Given the description of an element on the screen output the (x, y) to click on. 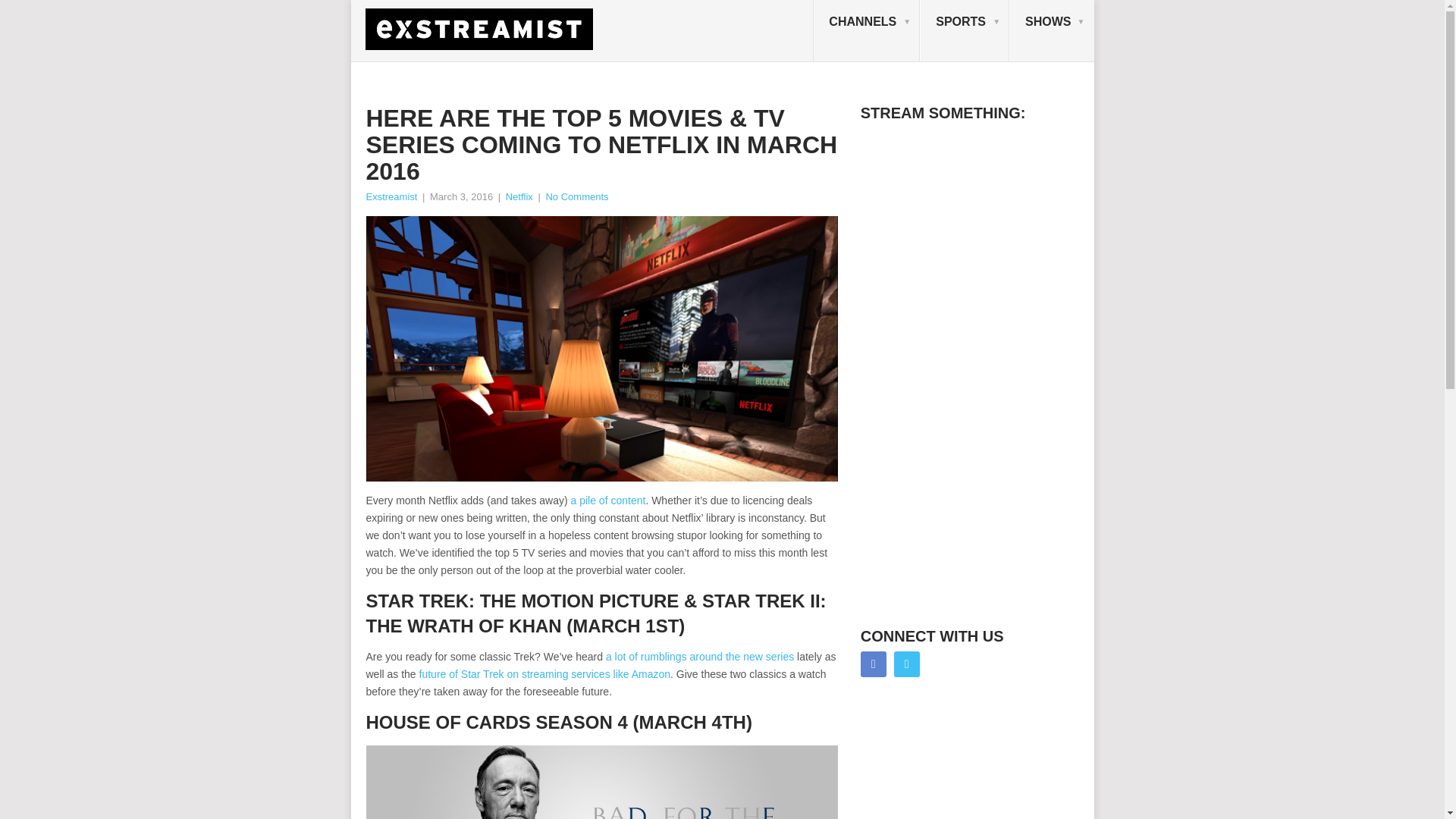
SPORTS (964, 31)
CHANNELS (866, 31)
Watch TV Channels Online (866, 31)
Posts by Exstreamist (390, 196)
Twitter (906, 664)
Facebook (873, 664)
Watch TV Shows Online (1051, 31)
Watch Sports Online (964, 31)
